Given the description of an element on the screen output the (x, y) to click on. 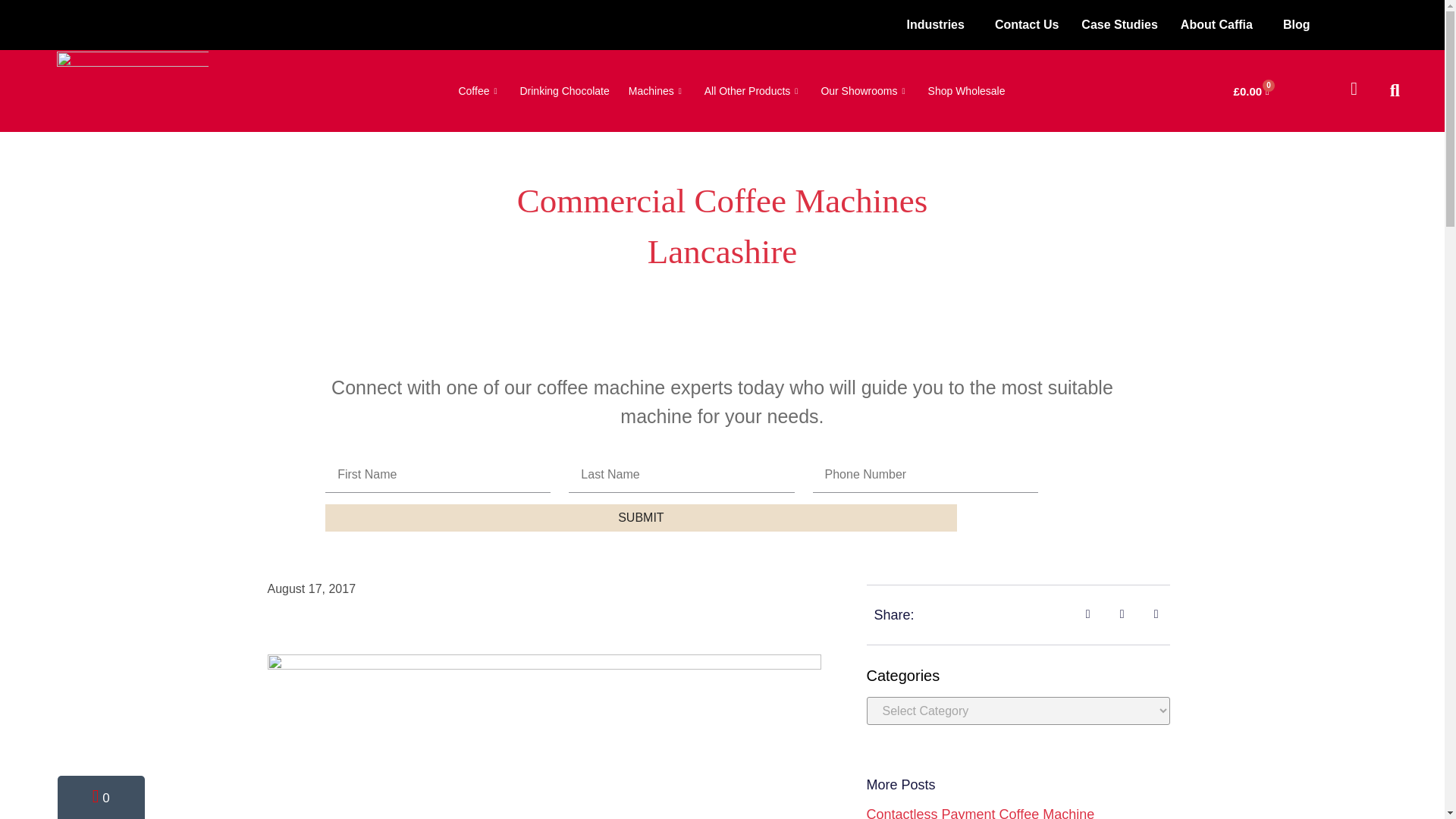
Case Studies (1119, 24)
About Caffia (1220, 24)
Drinking Chocolate (554, 90)
Industries (938, 24)
Blog (1296, 24)
Coffee (469, 90)
Contact Us (1027, 24)
